Given the description of an element on the screen output the (x, y) to click on. 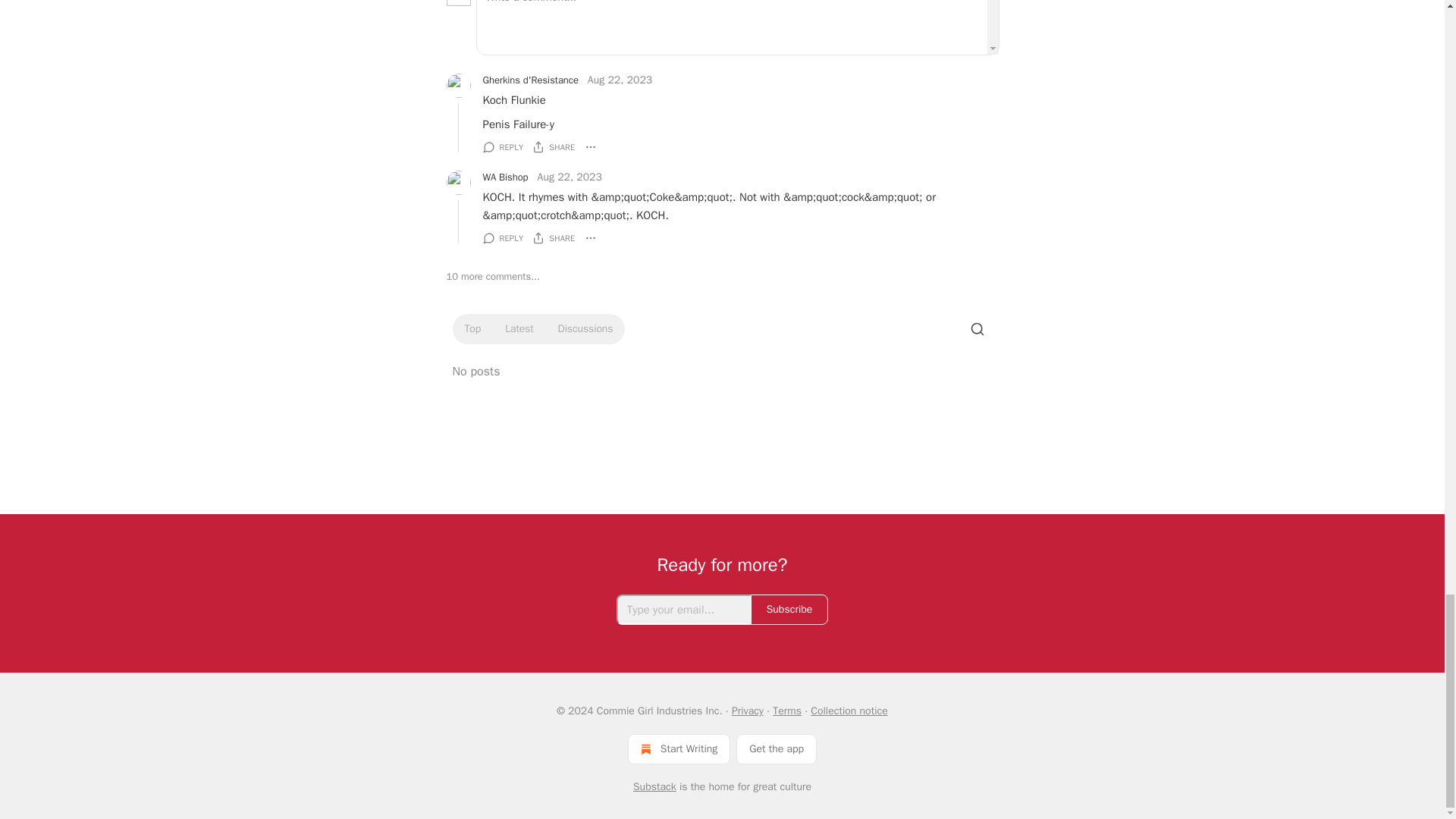
Gherkins d'Resistance (529, 79)
Aug 22, 2023 (620, 79)
